Given the description of an element on the screen output the (x, y) to click on. 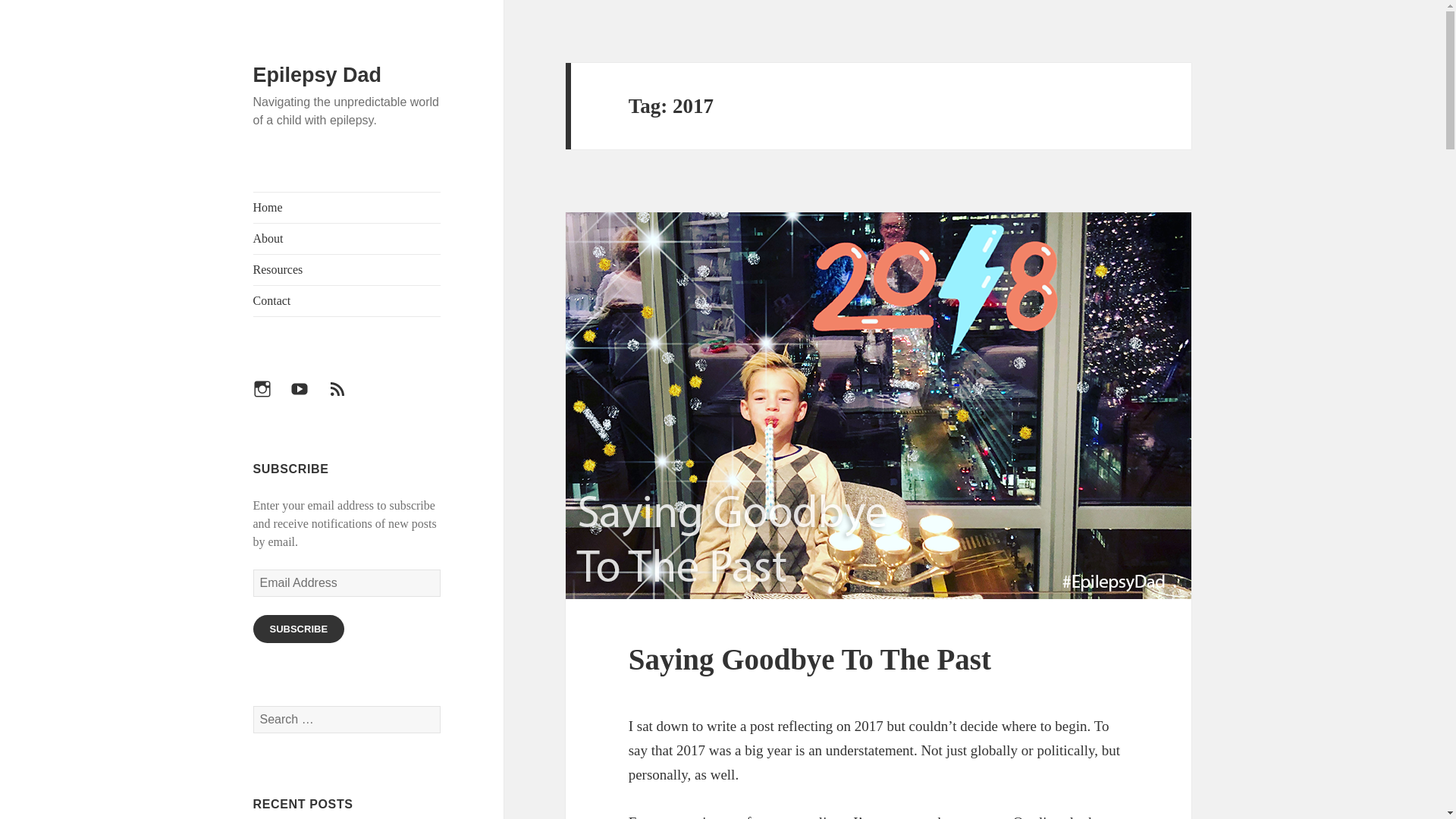
Epilepsy Dad (317, 74)
Instagram (271, 398)
Home (347, 207)
SUBSCRIBE (299, 628)
Resources (347, 269)
YouTube (307, 398)
About (347, 238)
